Given the description of an element on the screen output the (x, y) to click on. 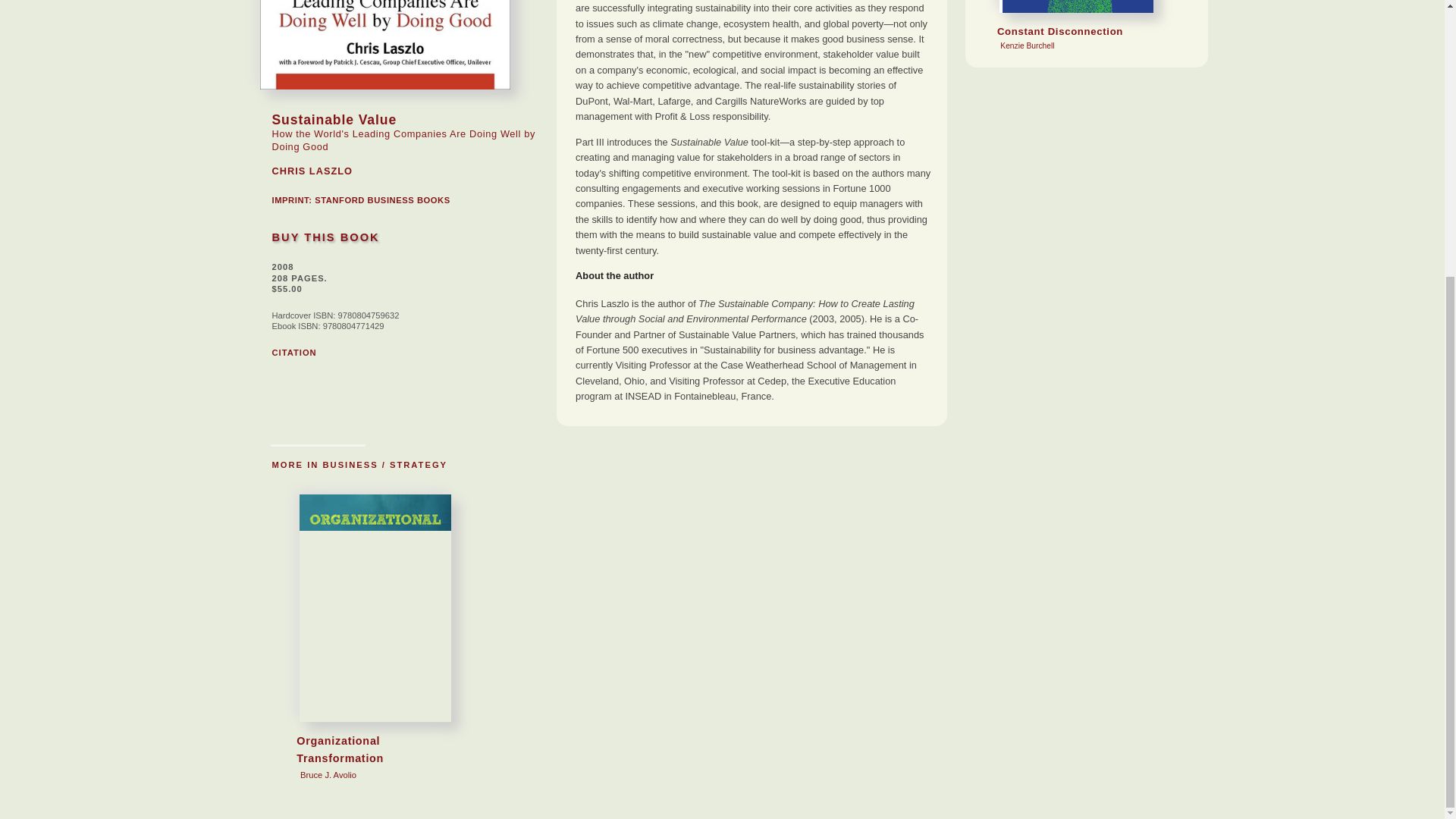
STANFORD BUSINESS BOOKS (381, 199)
CITATION (292, 352)
BUY THIS BOOK (369, 690)
